Given the description of an element on the screen output the (x, y) to click on. 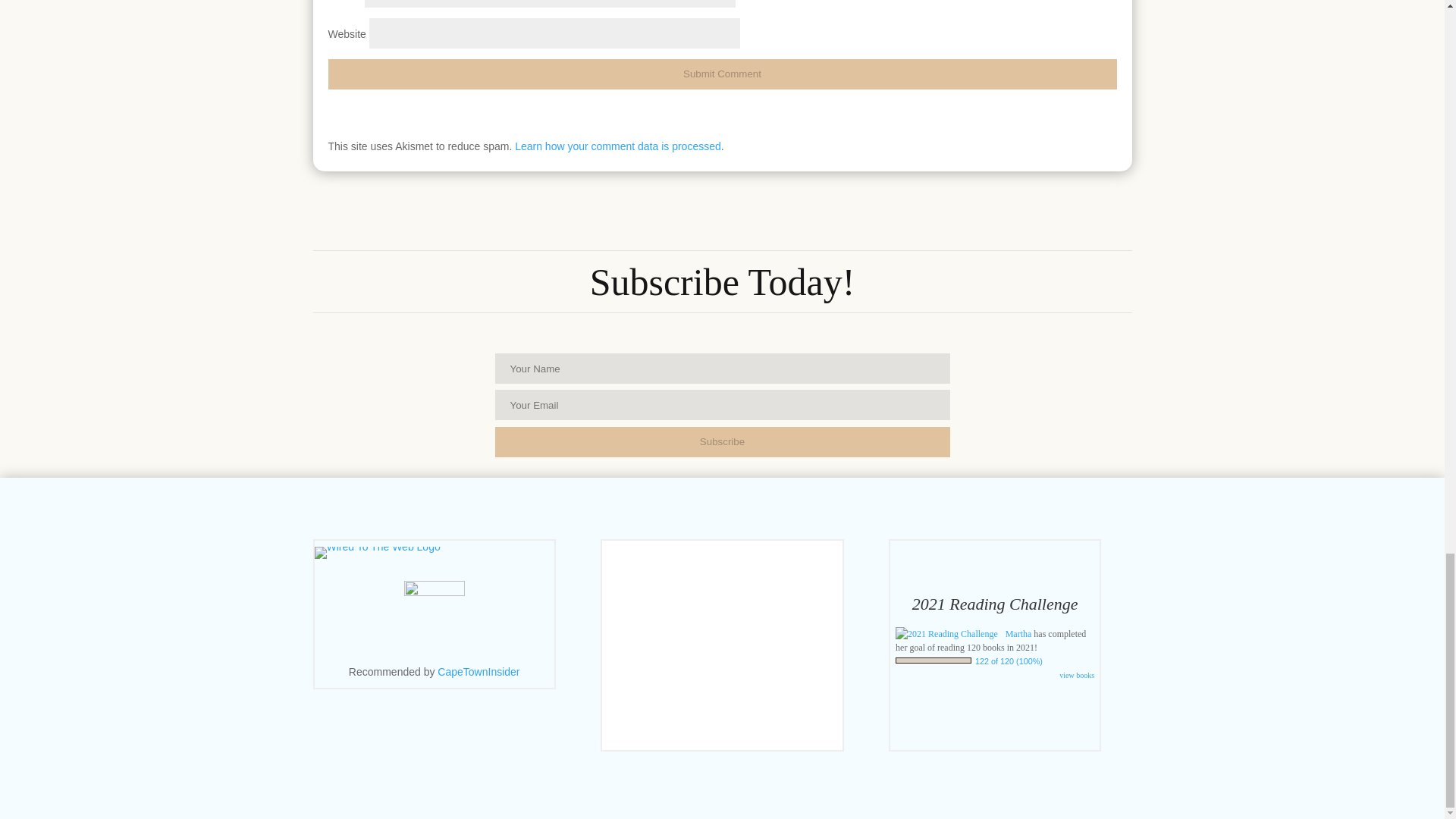
Cape Town Influencers (478, 671)
Wired To The Web Logo (376, 552)
Subscribe (722, 441)
